Given the description of an element on the screen output the (x, y) to click on. 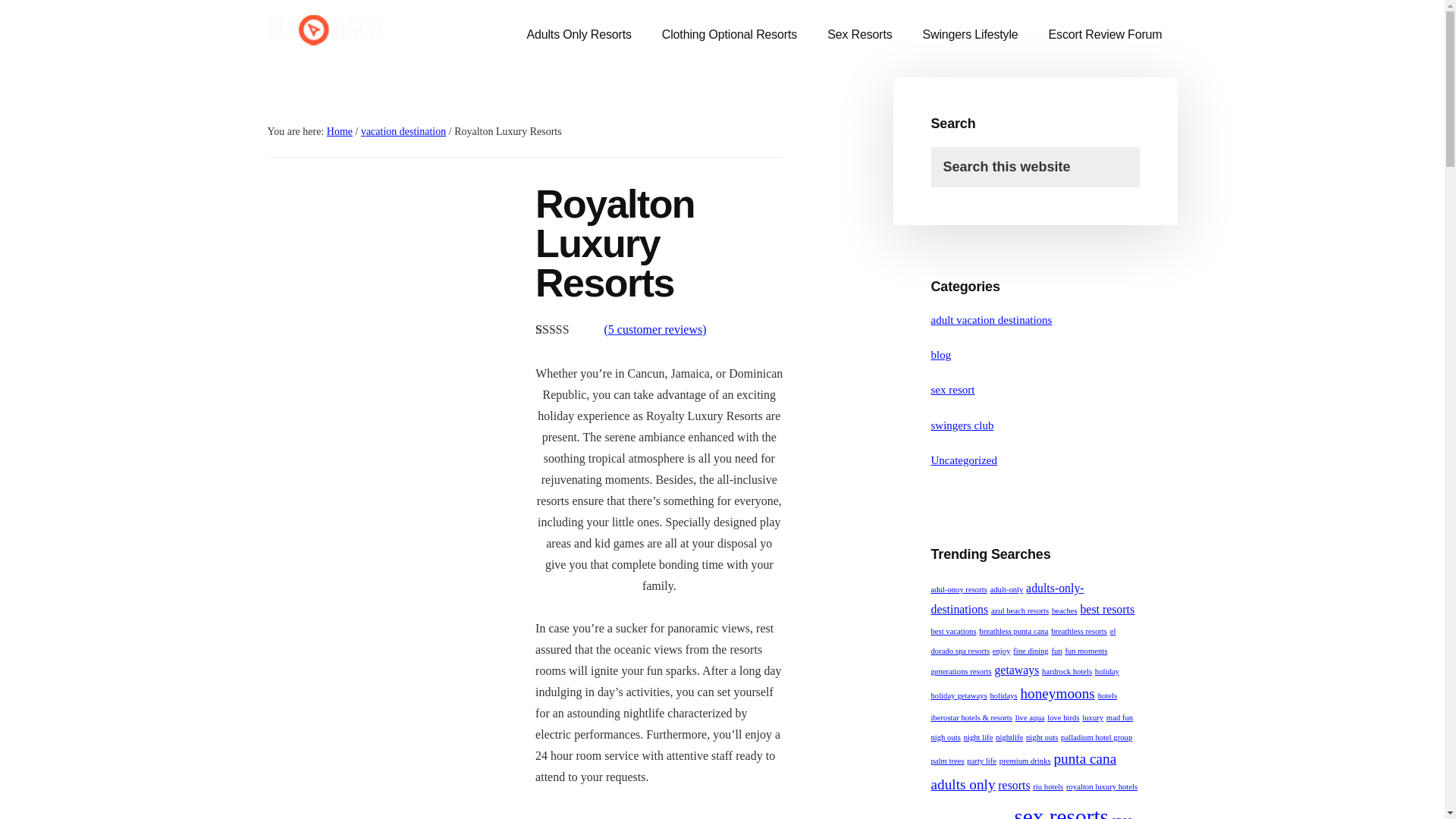
Sex Resorts (859, 34)
Home (339, 131)
Swingers Lifestyle (970, 34)
Adults Only Resorts (578, 34)
vacation destination (403, 131)
Clothing Optional Resorts (729, 34)
Escort Review Forum (1105, 34)
